Given the description of an element on the screen output the (x, y) to click on. 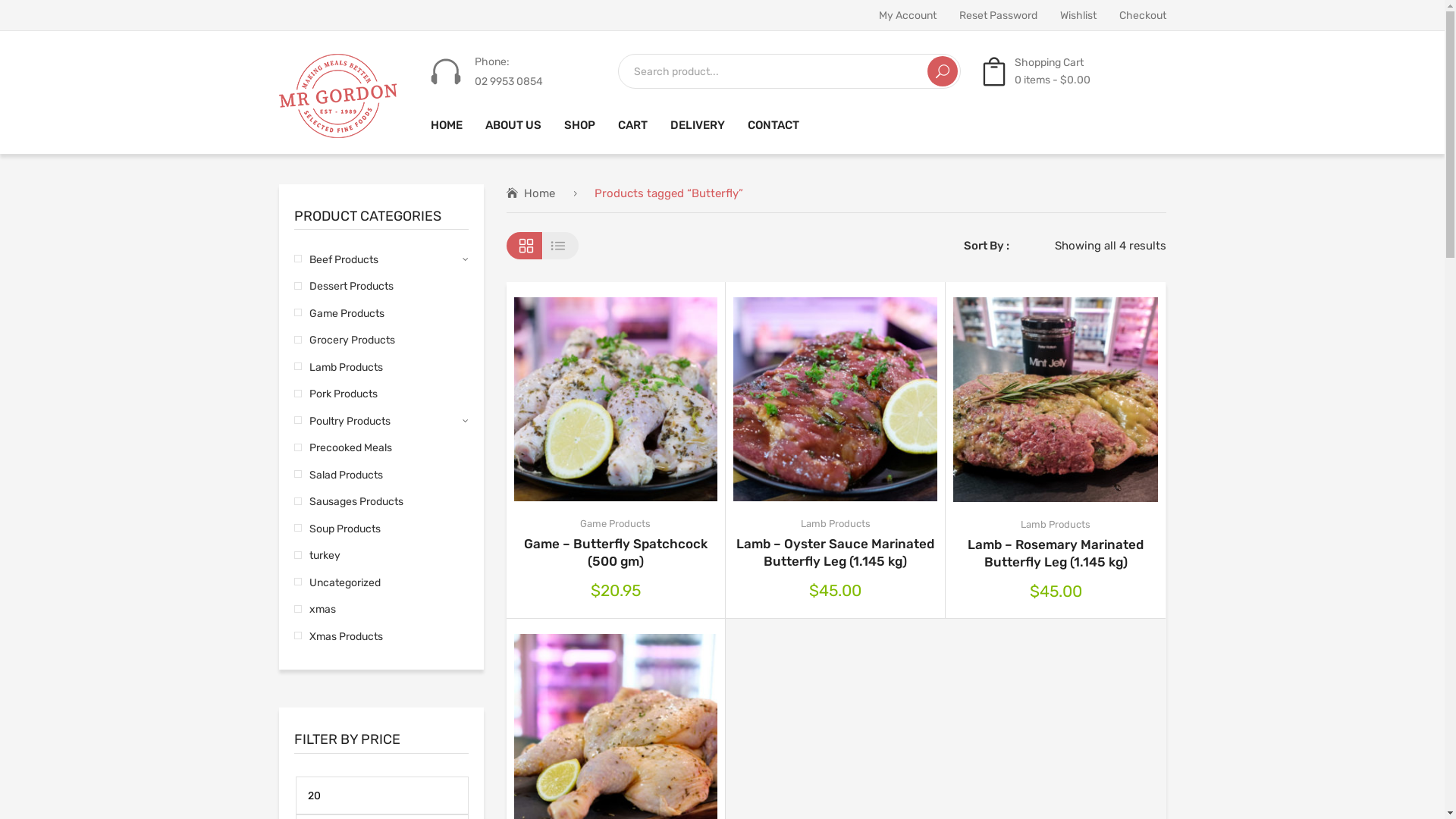
DELIVERY Element type: text (697, 125)
Reset Password Element type: text (997, 15)
List Element type: text (560, 245)
turkey Element type: text (317, 555)
Soup Products Element type: text (337, 528)
Uncategorized Element type: text (337, 582)
Dessert Products Element type: text (343, 286)
SHOP Element type: text (579, 125)
CART Element type: text (631, 125)
Search Element type: text (941, 71)
Sausages Products Element type: text (348, 501)
Salad Products Element type: text (338, 474)
Home Element type: text (530, 193)
Beef Products Element type: text (336, 259)
Grid Element type: text (524, 245)
Lamb Products Element type: text (1055, 524)
Wishlist Element type: text (1078, 15)
Lamb Products Element type: text (338, 367)
Checkout Element type: text (1142, 15)
Lamb Products Element type: text (835, 523)
Grocery Products Element type: text (344, 339)
HOME Element type: text (446, 125)
Xmas Products Element type: text (338, 636)
ABOUT US Element type: text (513, 125)
Poultry Products Element type: text (342, 421)
Shopping Cart
0 items - $0.00 Element type: text (1034, 71)
CONTACT Element type: text (773, 125)
My Account Element type: text (906, 15)
Game Products Element type: text (615, 523)
Pork Products Element type: text (335, 393)
Precooked Meals Element type: text (343, 447)
xmas Element type: text (314, 609)
Game Products Element type: text (339, 313)
